Given the description of an element on the screen output the (x, y) to click on. 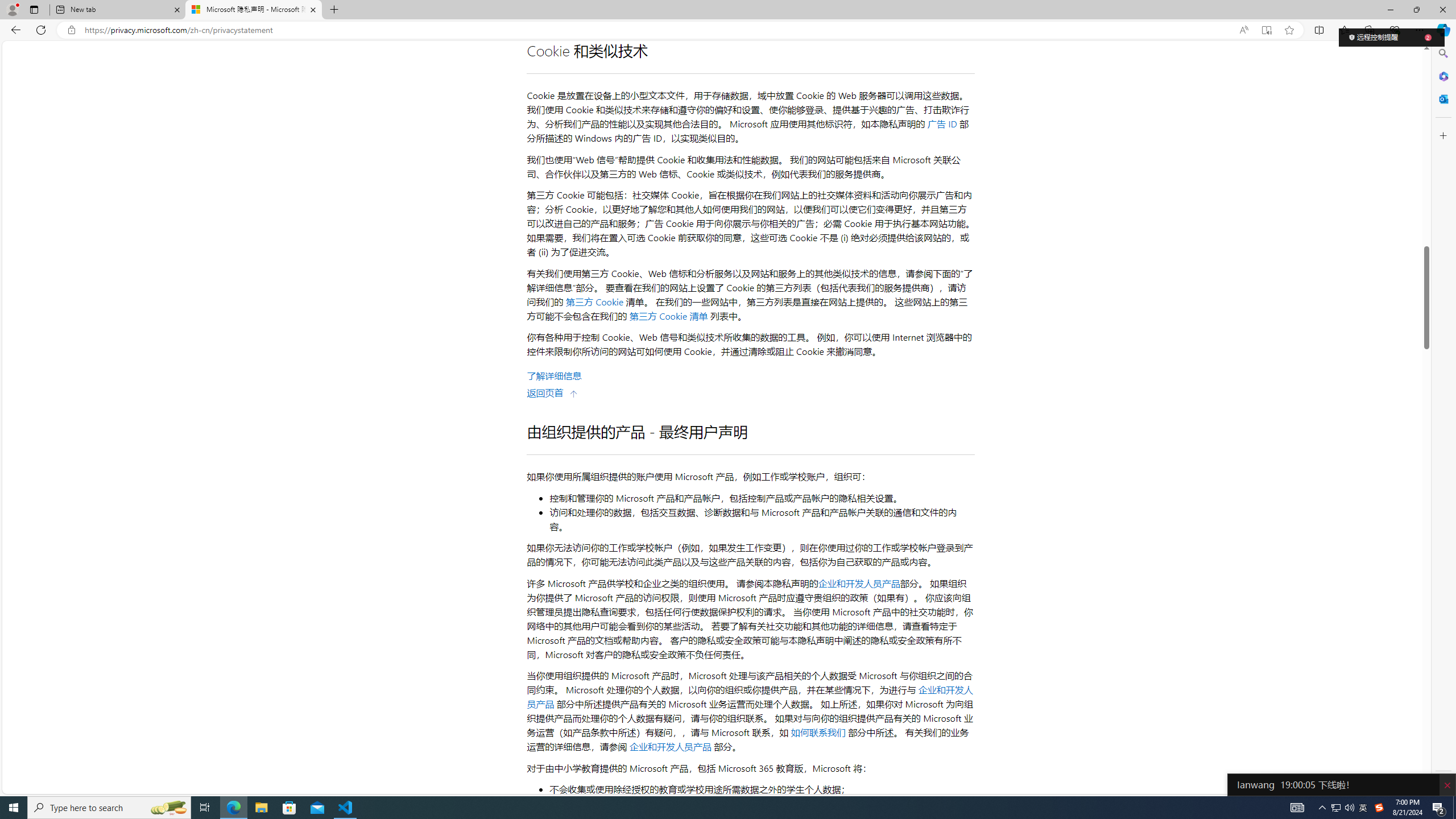
App bar (728, 29)
Side bar (1443, 418)
Customize (1442, 135)
Outlook (1442, 98)
Enter Immersive Reader (F9) (1266, 29)
